Given the description of an element on the screen output the (x, y) to click on. 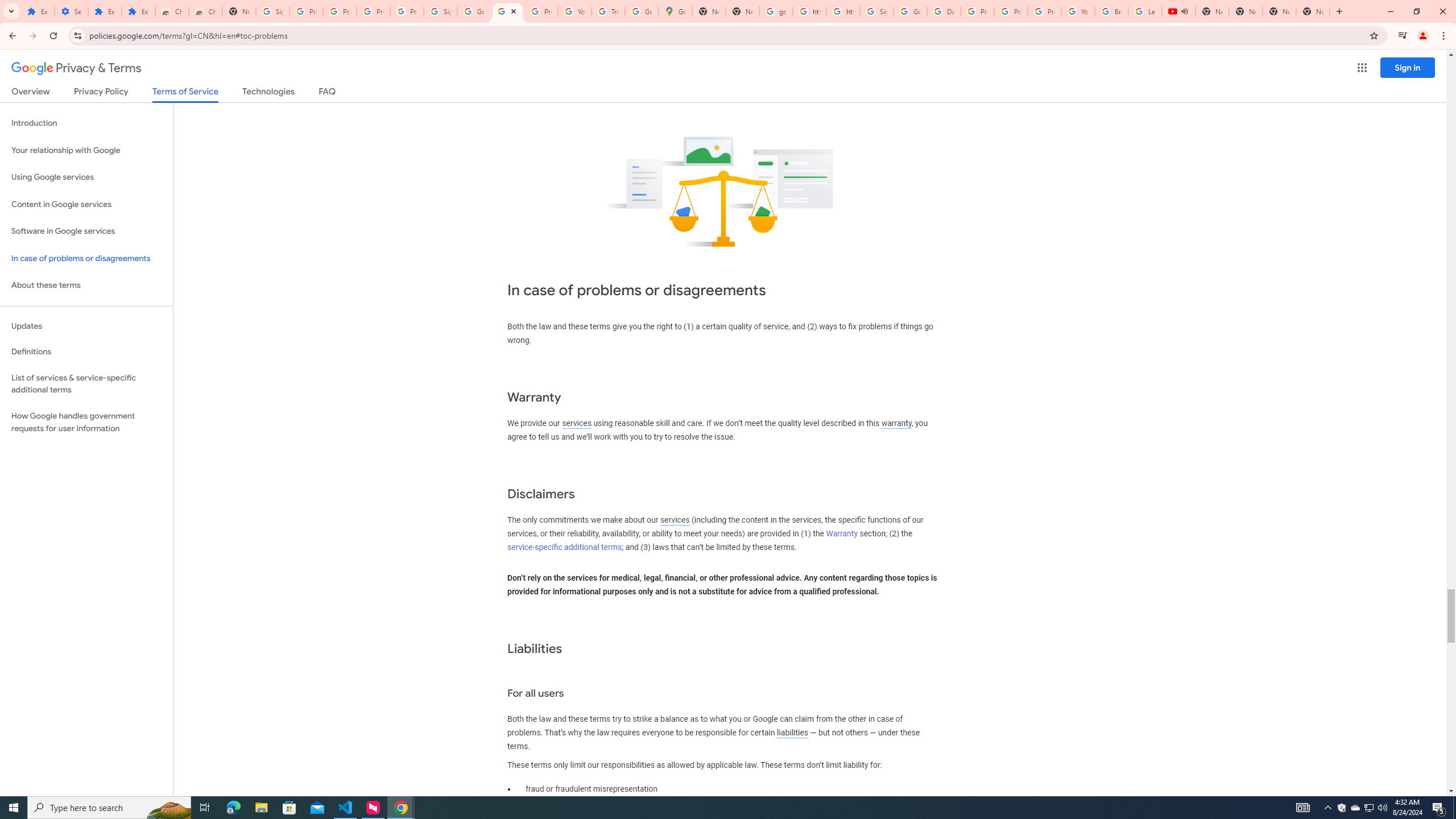
Privacy Help Center - Policies Help (1010, 11)
Sign in - Google Accounts (876, 11)
Sign in - Google Accounts (441, 11)
Using Google services (86, 176)
Extensions (104, 11)
warranty (895, 423)
